Given the description of an element on the screen output the (x, y) to click on. 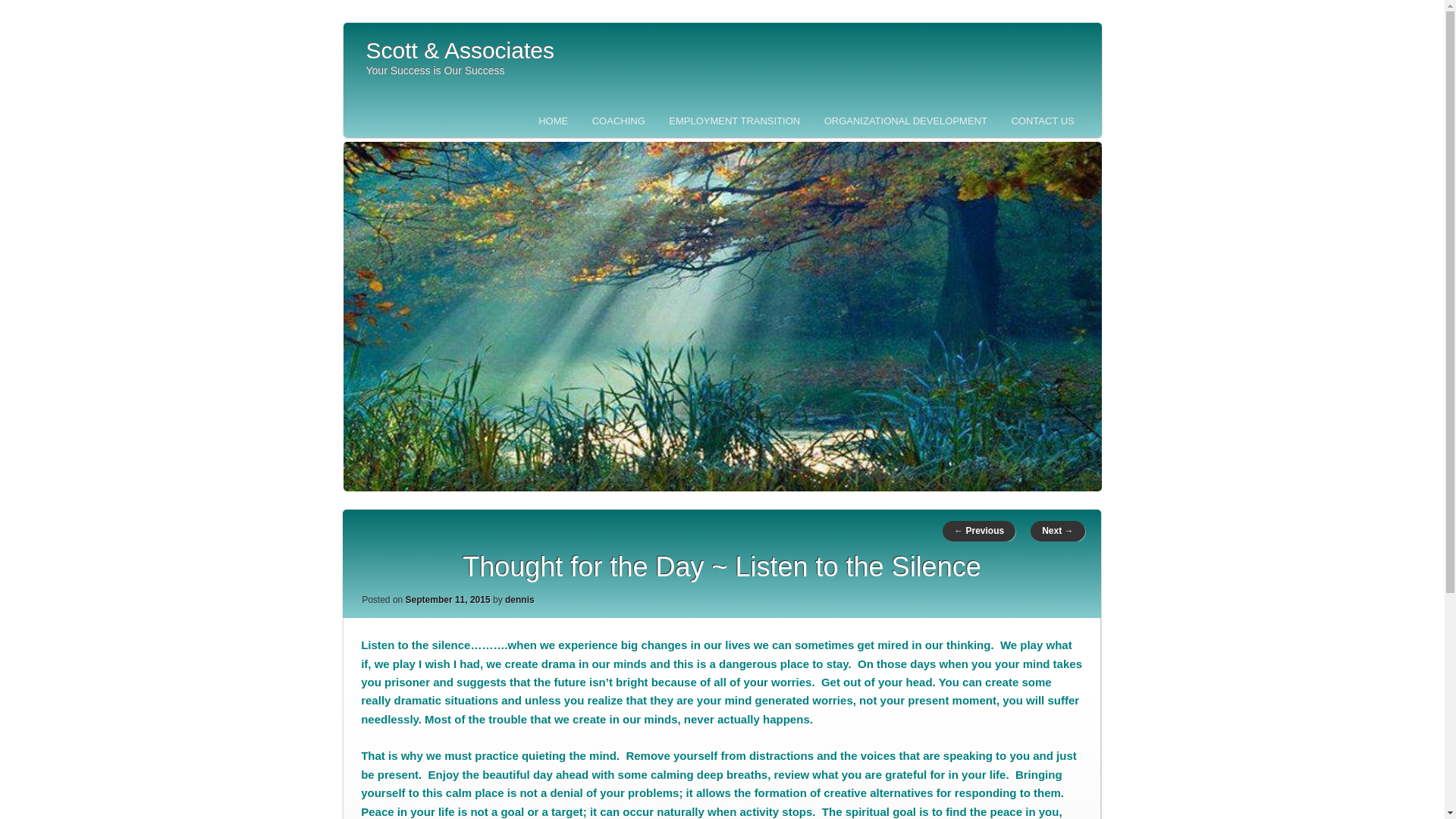
View all posts by dennis (519, 599)
10:57 am (448, 599)
dennis (519, 599)
ORGANIZATIONAL DEVELOPMENT (905, 120)
September 11, 2015 (448, 599)
EMPLOYMENT TRANSITION (735, 120)
CONTACT US (1042, 120)
COACHING (618, 120)
